Given the description of an element on the screen output the (x, y) to click on. 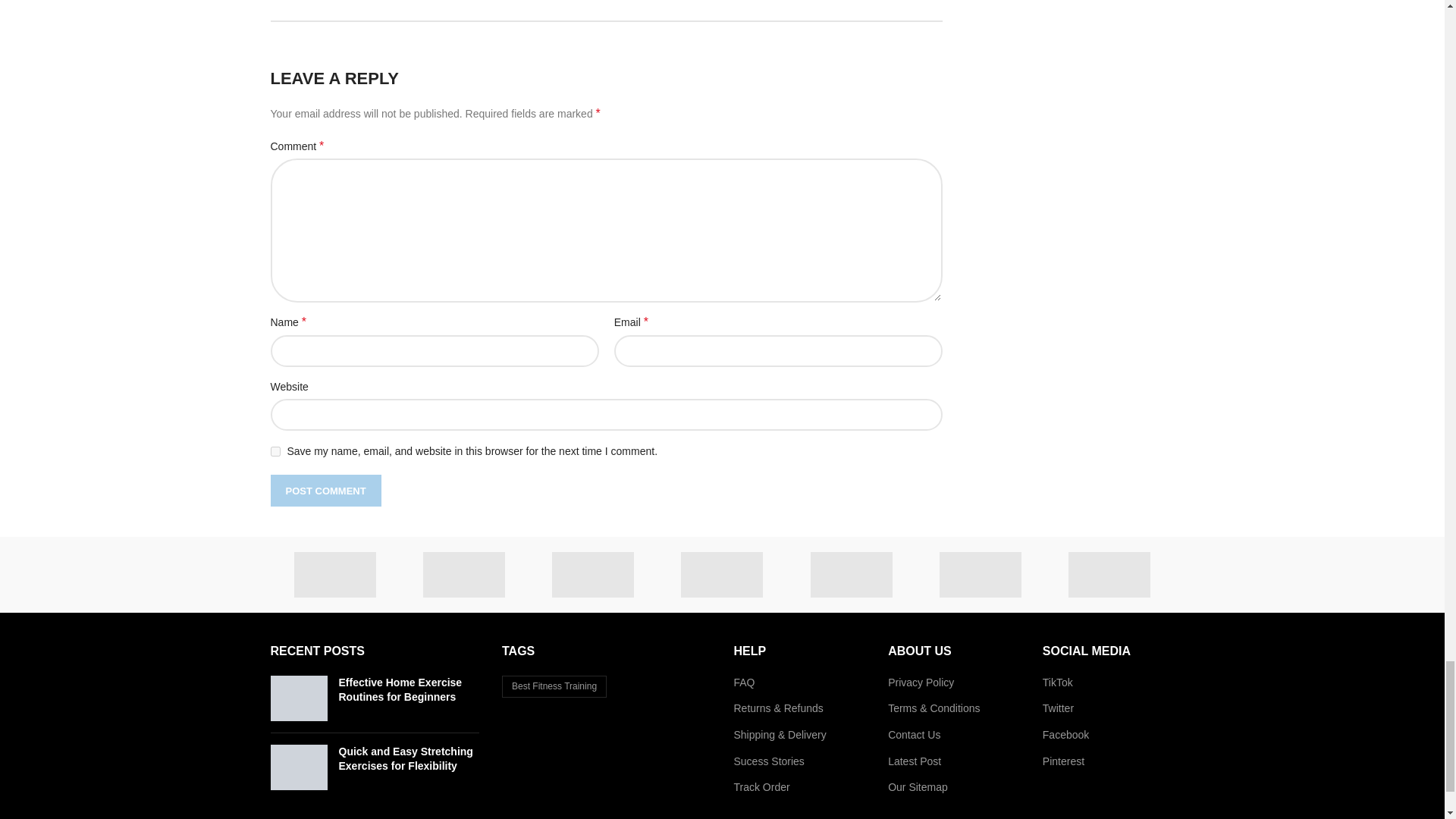
Post Comment (324, 490)
yes (274, 451)
